Given the description of an element on the screen output the (x, y) to click on. 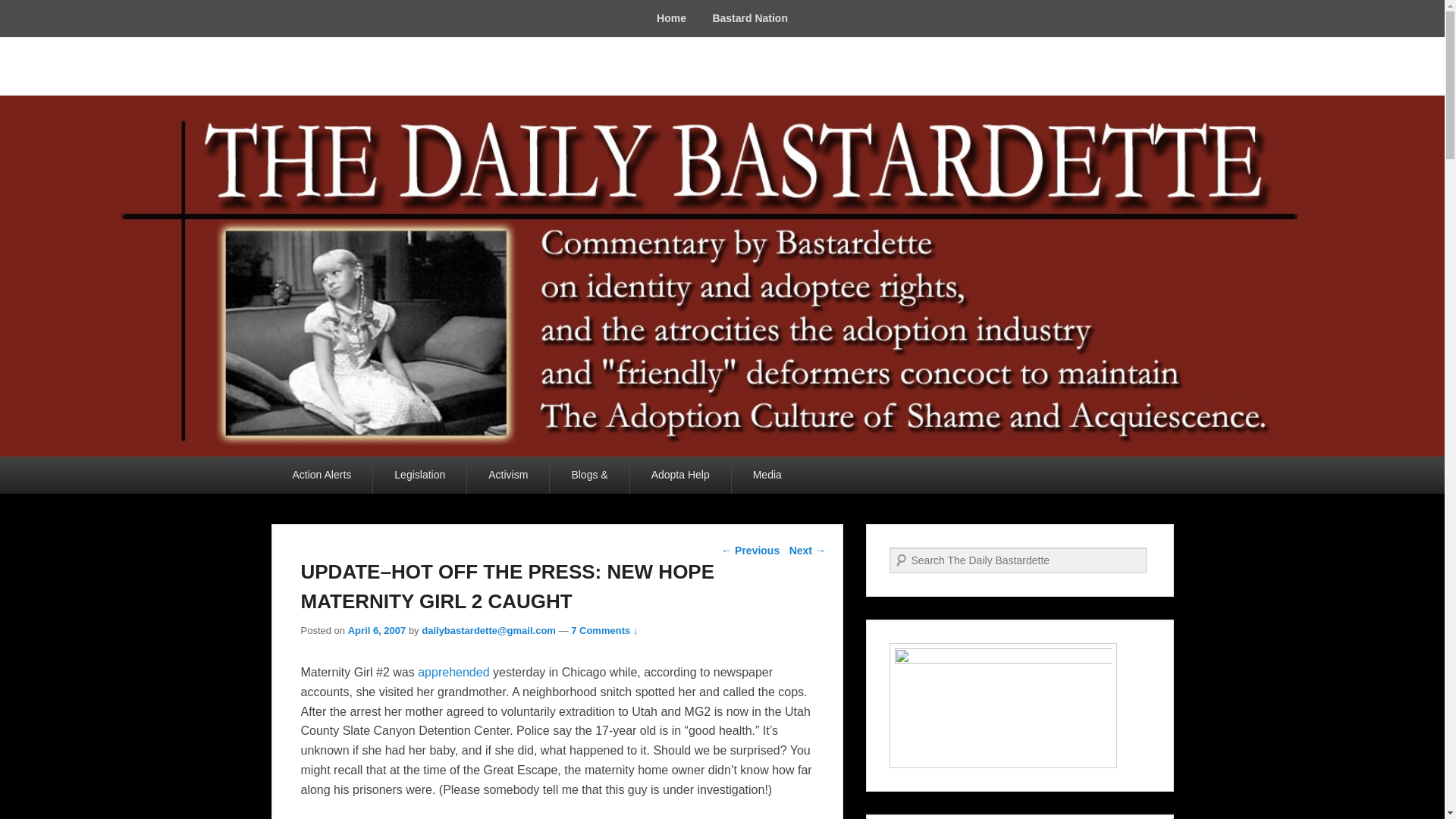
Home (671, 18)
Action Alerts (321, 474)
4:09 am (376, 630)
apprehended (453, 671)
Bastard Nation (749, 18)
Adopta Help (680, 474)
April 6, 2007 (376, 630)
Media (767, 474)
Activism (507, 474)
Legislation (418, 474)
